Given the description of an element on the screen output the (x, y) to click on. 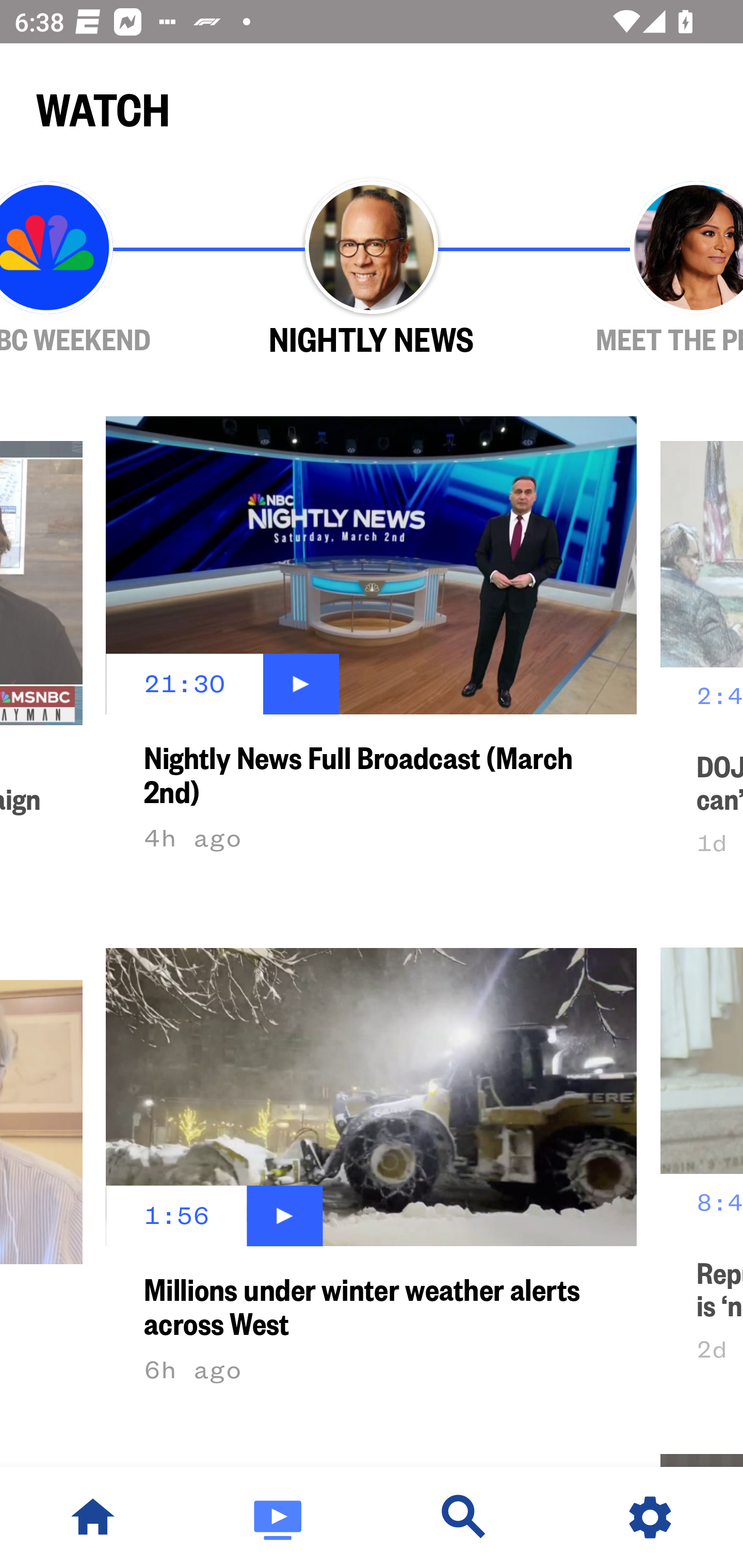
MSNBC WEEKEND (104, 268)
NIGHTLY NEWS (371, 268)
MEET THE PRESS (638, 268)
NBC News Home (92, 1517)
Discover (464, 1517)
Settings (650, 1517)
